Given the description of an element on the screen output the (x, y) to click on. 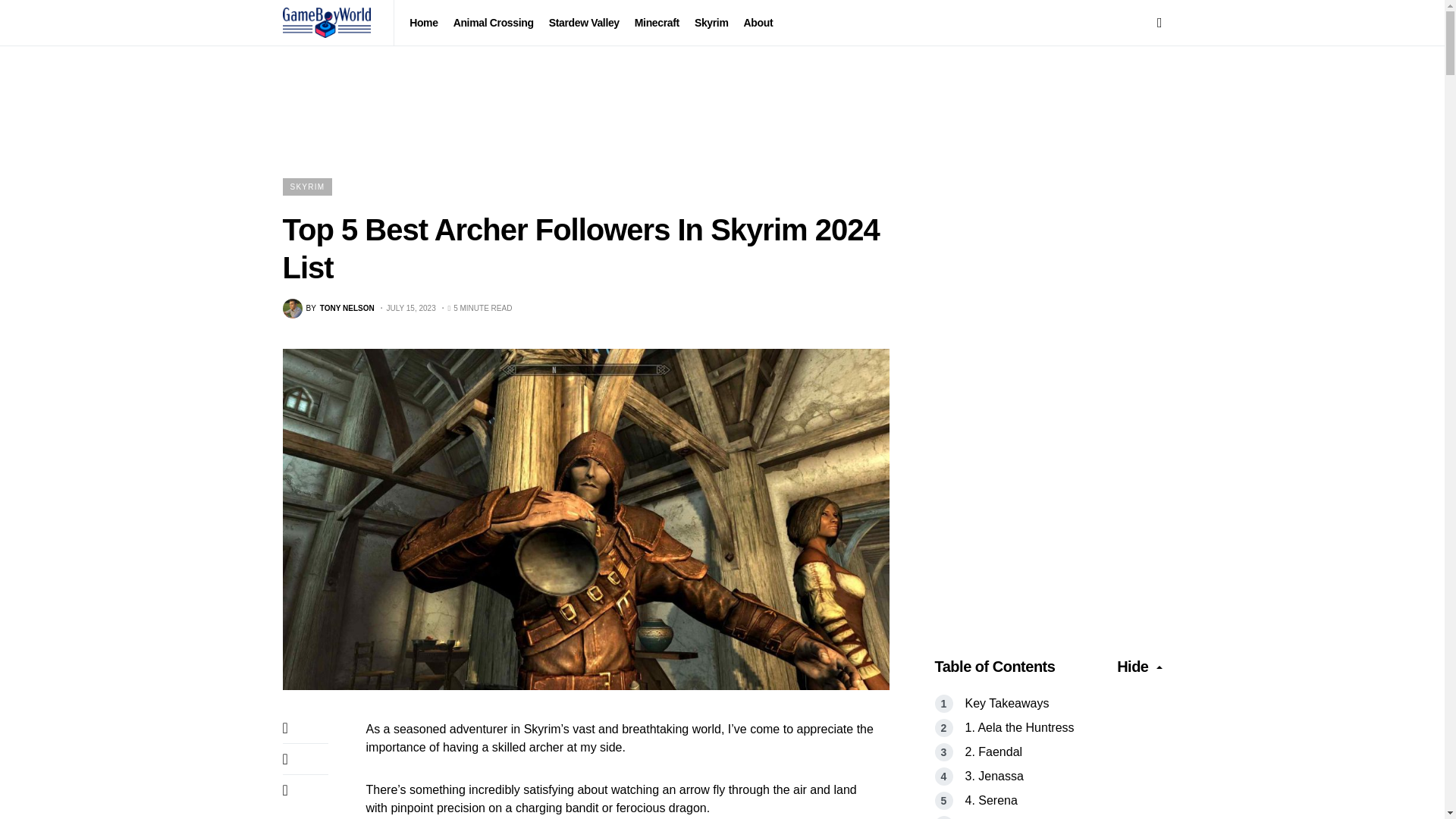
Stardew Valley (584, 22)
Animal Crossing (328, 308)
View all posts by Tony Nelson (493, 22)
SKYRIM (328, 308)
Minecraft (306, 186)
